Given the description of an element on the screen output the (x, y) to click on. 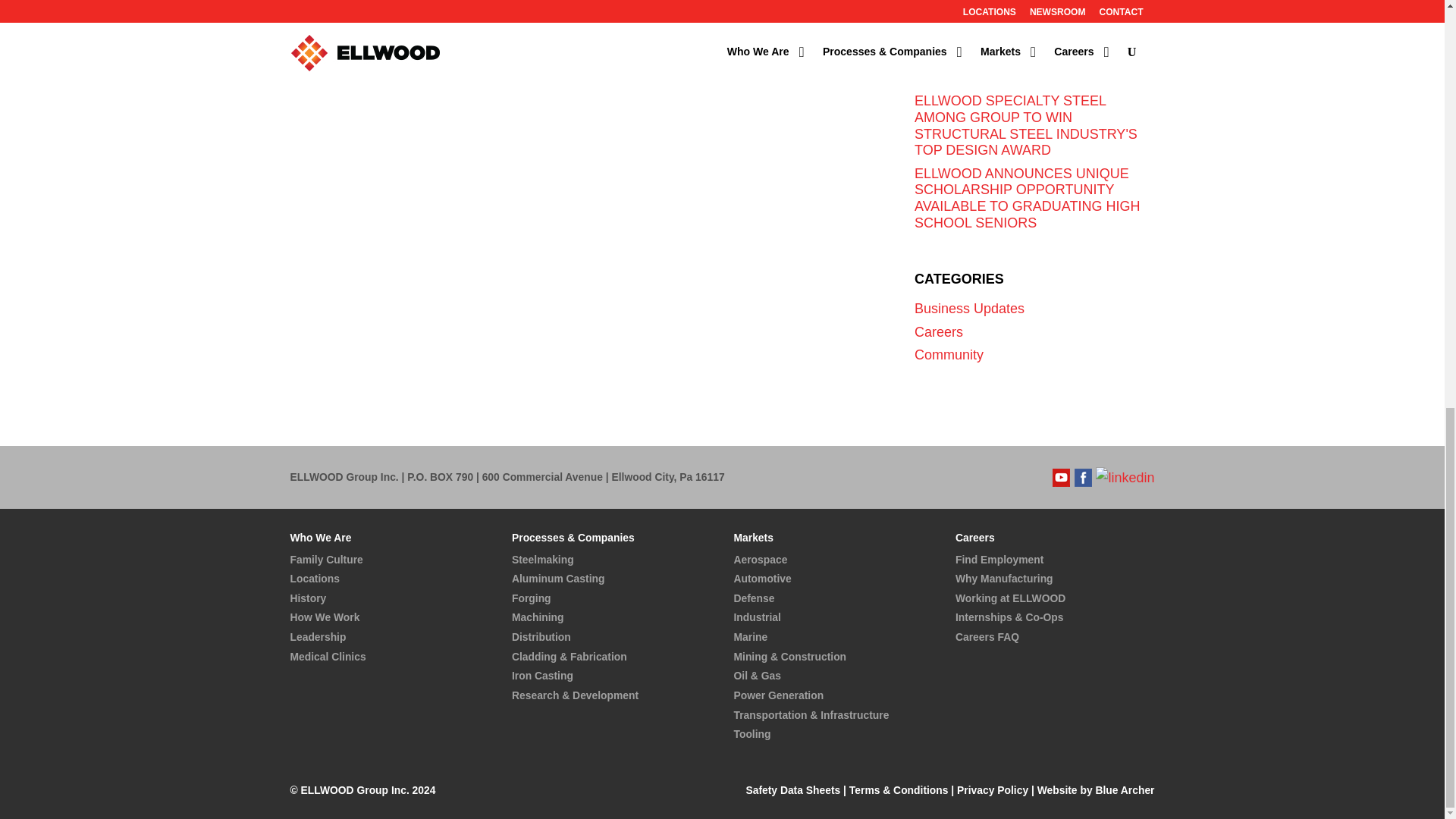
youtube (1061, 476)
facebook (1083, 476)
linkedin (1125, 476)
